Given the description of an element on the screen output the (x, y) to click on. 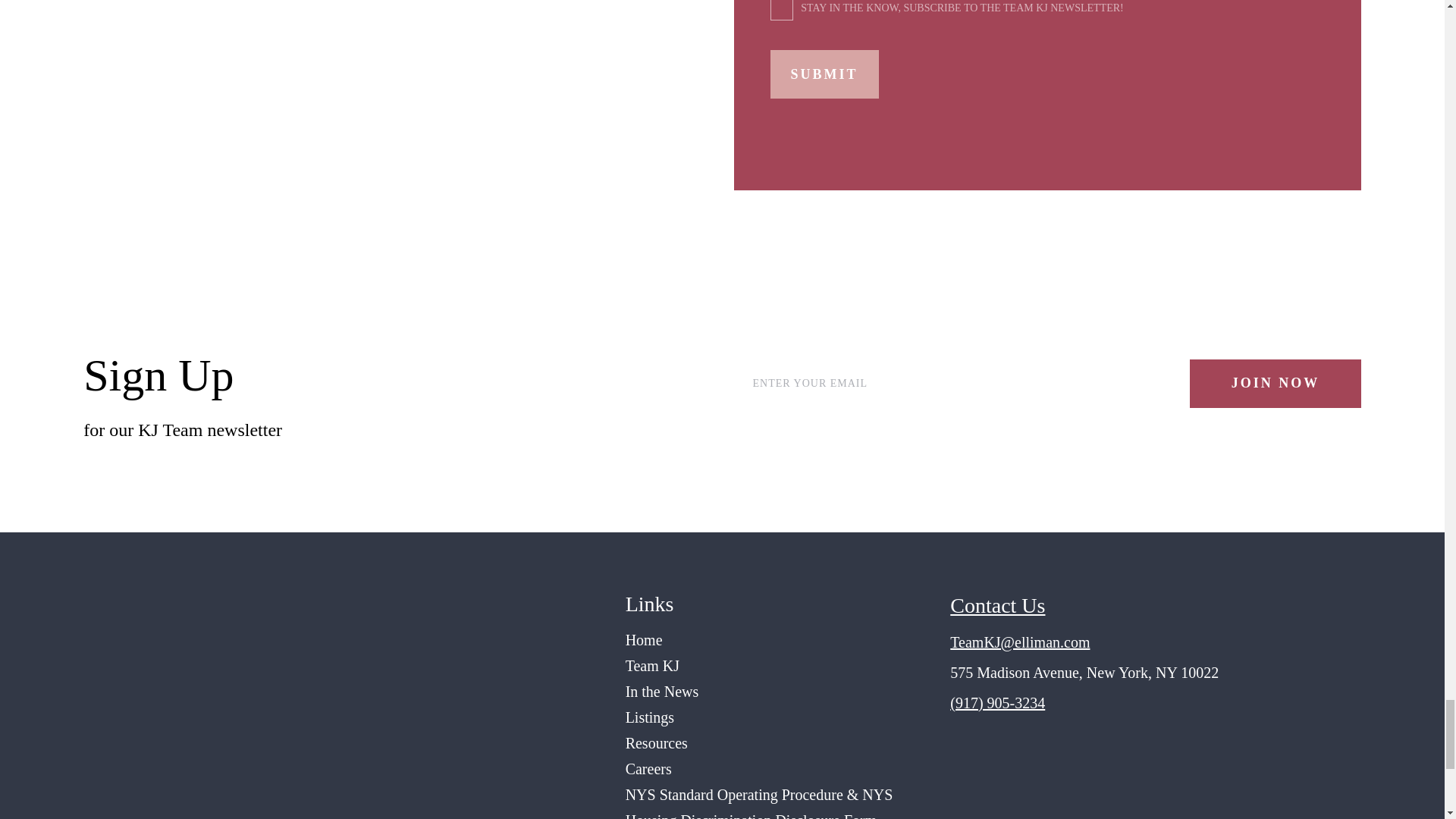
Submit (824, 73)
JOIN NOW (1275, 383)
